Given the description of an element on the screen output the (x, y) to click on. 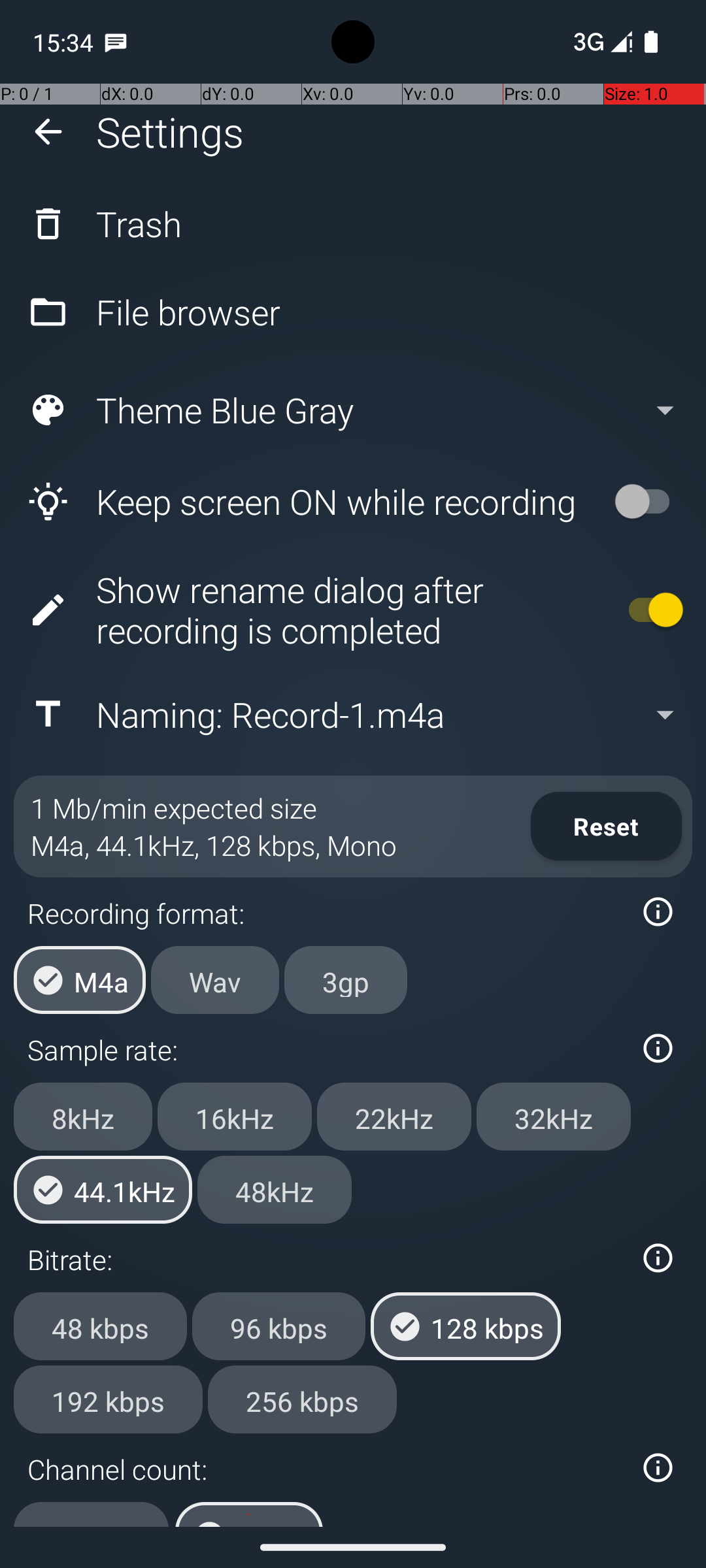
Settings Element type: android.widget.TextView (169, 131)
Trash Element type: android.widget.TextView (353, 223)
File browser Element type: android.widget.TextView (353, 311)
Keep screen ON while recording Element type: android.widget.TextView (304, 501)
Show rename dialog after recording is completed Element type: android.widget.TextView (304, 609)
M4a, 44.1kHz, 128 kbps, Mono Element type: android.widget.TextView (213, 844)
SMS Messenger notification: Petar Gonzalez Element type: android.widget.ImageView (115, 41)
Phone signal full. Element type: android.widget.FrameLayout (600, 41)
